Given the description of an element on the screen output the (x, y) to click on. 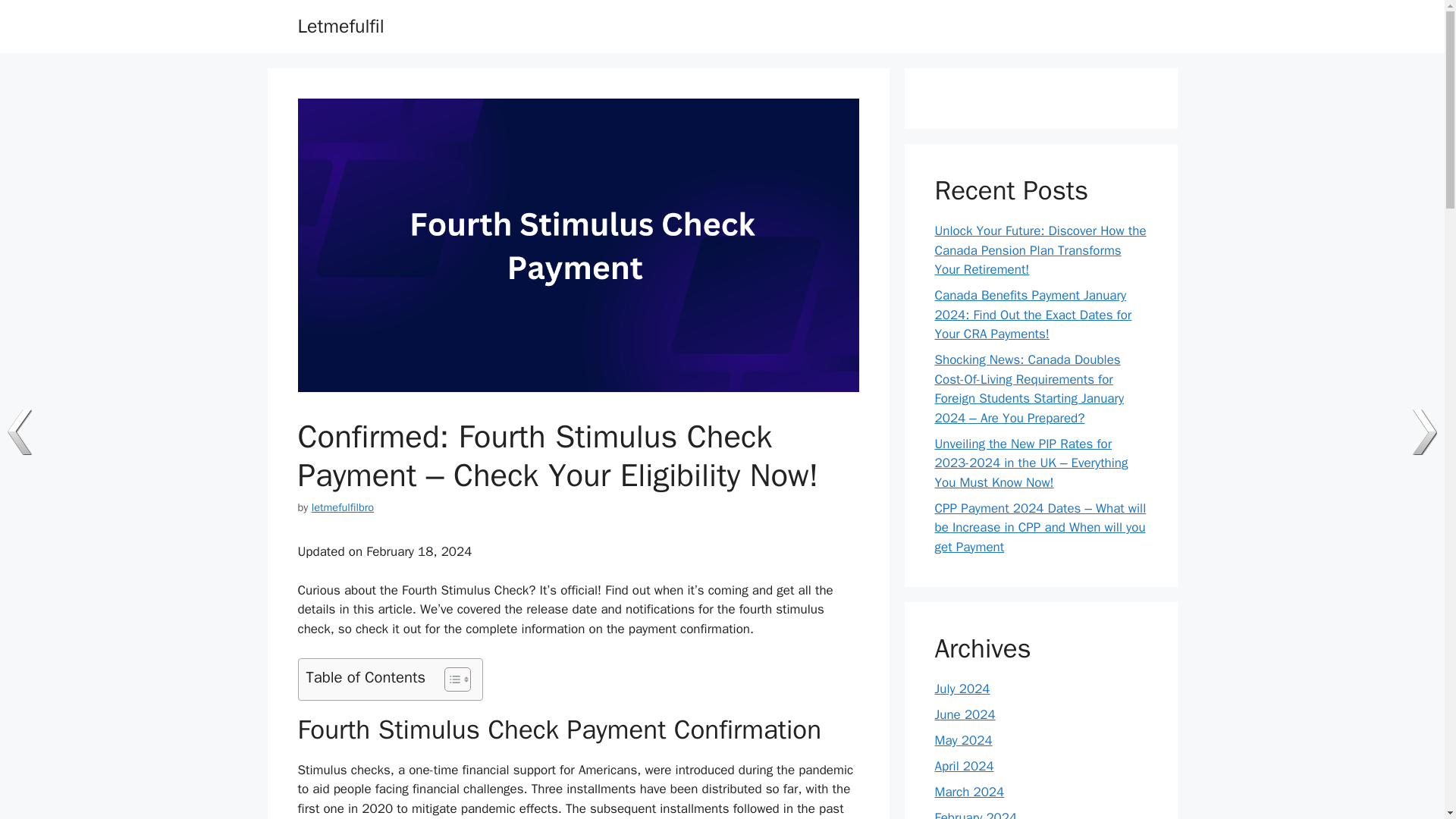
May 2024 (962, 740)
February 2024 (975, 814)
July 2024 (962, 688)
June 2024 (964, 714)
letmefulfilbro (342, 507)
April 2024 (963, 765)
March 2024 (969, 791)
Letmefulfil (340, 25)
